Given the description of an element on the screen output the (x, y) to click on. 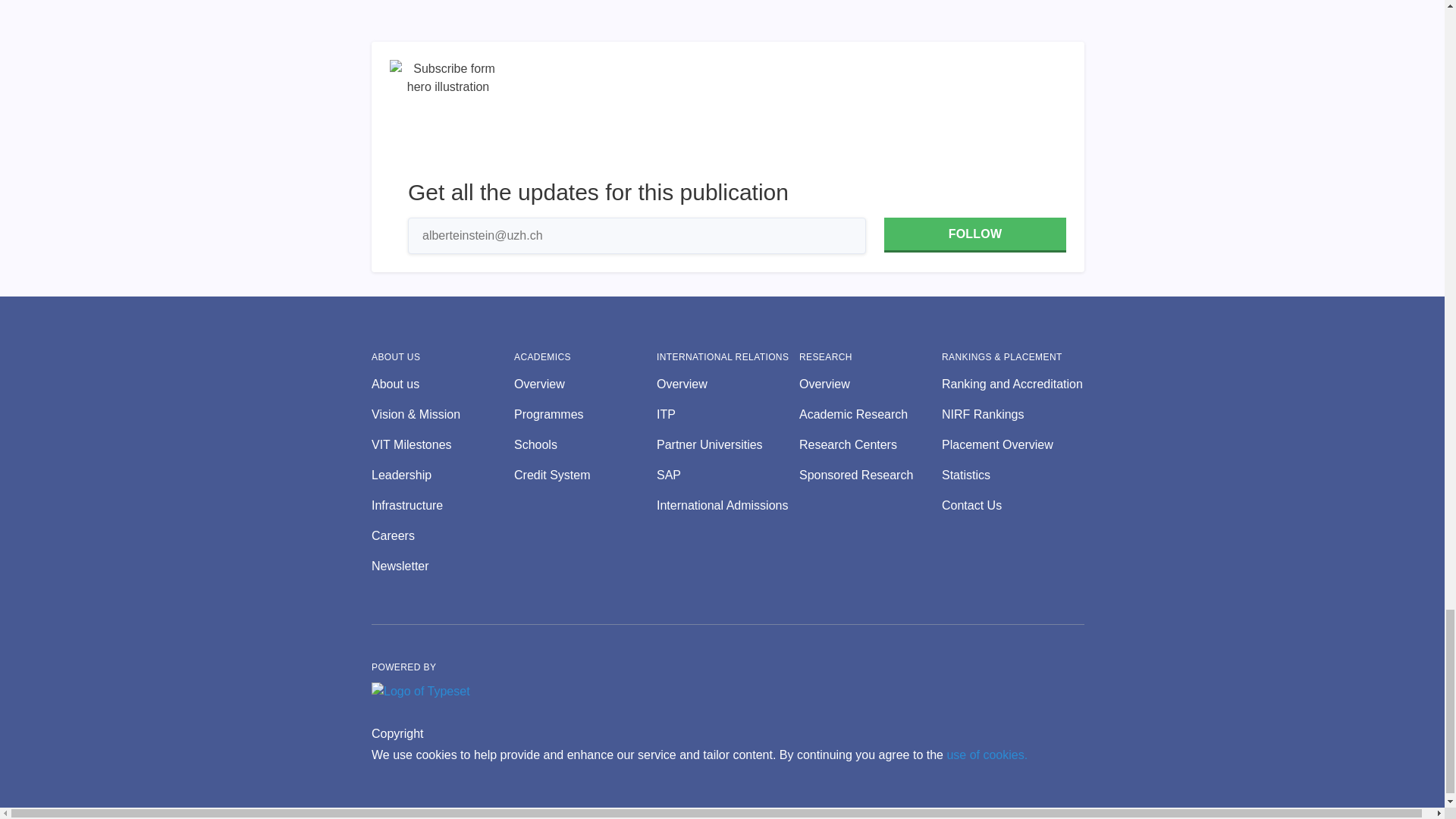
Newsletter (442, 566)
Careers (442, 536)
About us (442, 384)
Logo of Typeset (420, 691)
Programmes (584, 414)
Credit System (584, 475)
FOLLOW (974, 234)
Overview (584, 384)
Leadership (442, 475)
Subscribe form hero illustration (448, 117)
